Given the description of an element on the screen output the (x, y) to click on. 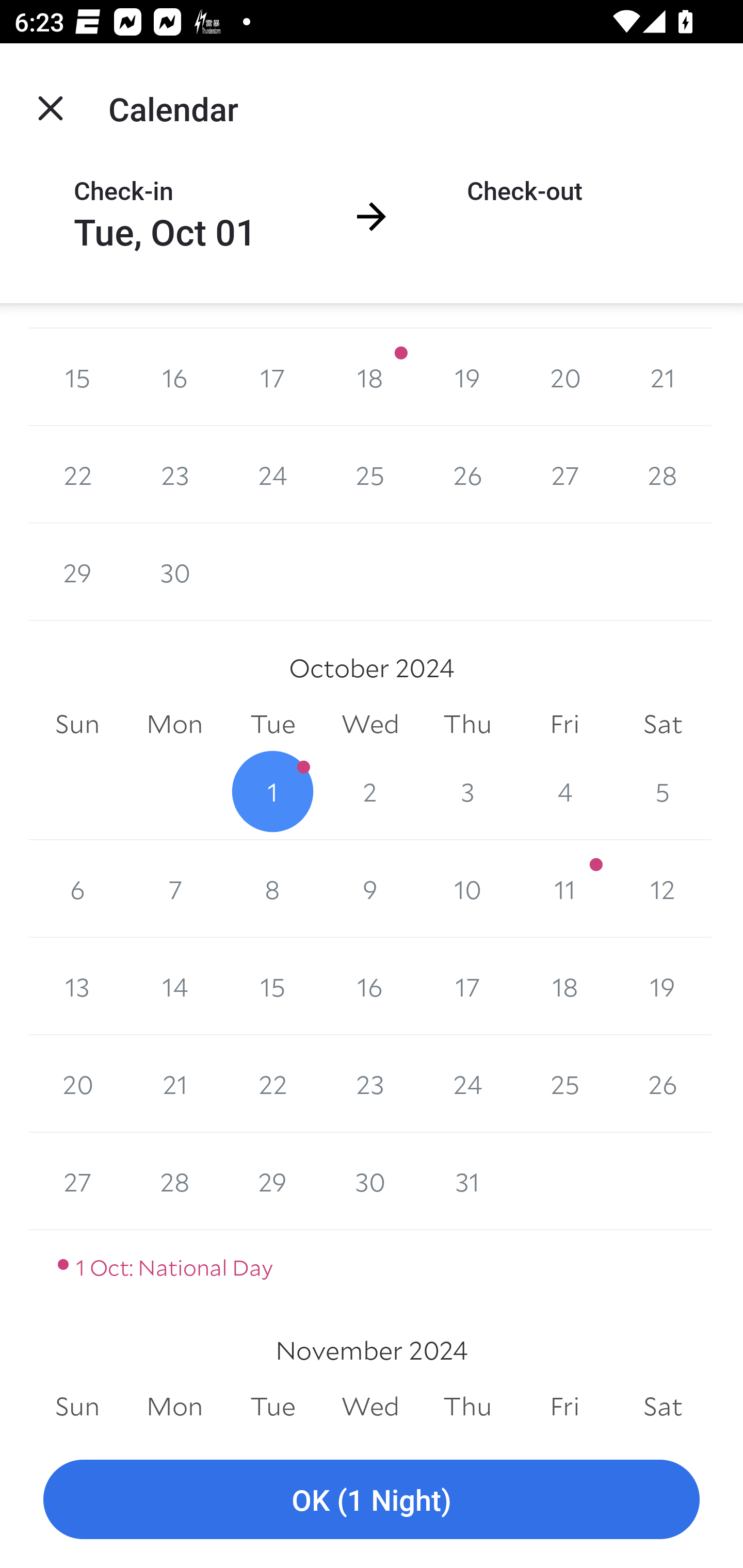
15 15 September 2024 (77, 377)
16 16 September 2024 (174, 377)
17 17 September 2024 (272, 377)
18 18 September 2024 (370, 377)
19 19 September 2024 (467, 377)
20 20 September 2024 (564, 377)
21 21 September 2024 (662, 377)
22 22 September 2024 (77, 474)
23 23 September 2024 (174, 474)
24 24 September 2024 (272, 474)
25 25 September 2024 (370, 474)
26 26 September 2024 (467, 474)
27 27 September 2024 (564, 474)
28 28 September 2024 (662, 474)
29 29 September 2024 (77, 571)
30 30 September 2024 (174, 571)
Sun (77, 724)
Mon (174, 724)
Tue (272, 724)
Wed (370, 724)
Thu (467, 724)
Fri (564, 724)
Sat (662, 724)
1 1 October 2024 (272, 791)
2 2 October 2024 (370, 791)
3 3 October 2024 (467, 791)
4 4 October 2024 (564, 791)
5 5 October 2024 (662, 791)
6 6 October 2024 (77, 888)
7 7 October 2024 (174, 888)
8 8 October 2024 (272, 888)
9 9 October 2024 (370, 888)
10 10 October 2024 (467, 888)
11 11 October 2024 (564, 888)
12 12 October 2024 (662, 888)
13 13 October 2024 (77, 985)
14 14 October 2024 (174, 985)
15 15 October 2024 (272, 985)
16 16 October 2024 (370, 985)
17 17 October 2024 (467, 985)
18 18 October 2024 (564, 985)
19 19 October 2024 (662, 985)
20 20 October 2024 (77, 1083)
21 21 October 2024 (174, 1083)
22 22 October 2024 (272, 1083)
23 23 October 2024 (370, 1083)
24 24 October 2024 (467, 1083)
25 25 October 2024 (564, 1083)
26 26 October 2024 (662, 1083)
27 27 October 2024 (77, 1181)
28 28 October 2024 (174, 1181)
29 29 October 2024 (272, 1181)
30 30 October 2024 (370, 1181)
31 31 October 2024 (467, 1181)
Sun (77, 1406)
Mon (174, 1406)
Tue (272, 1406)
Wed (370, 1406)
Thu (467, 1406)
Fri (564, 1406)
Sat (662, 1406)
OK (1 Night) (371, 1499)
